Given the description of an element on the screen output the (x, y) to click on. 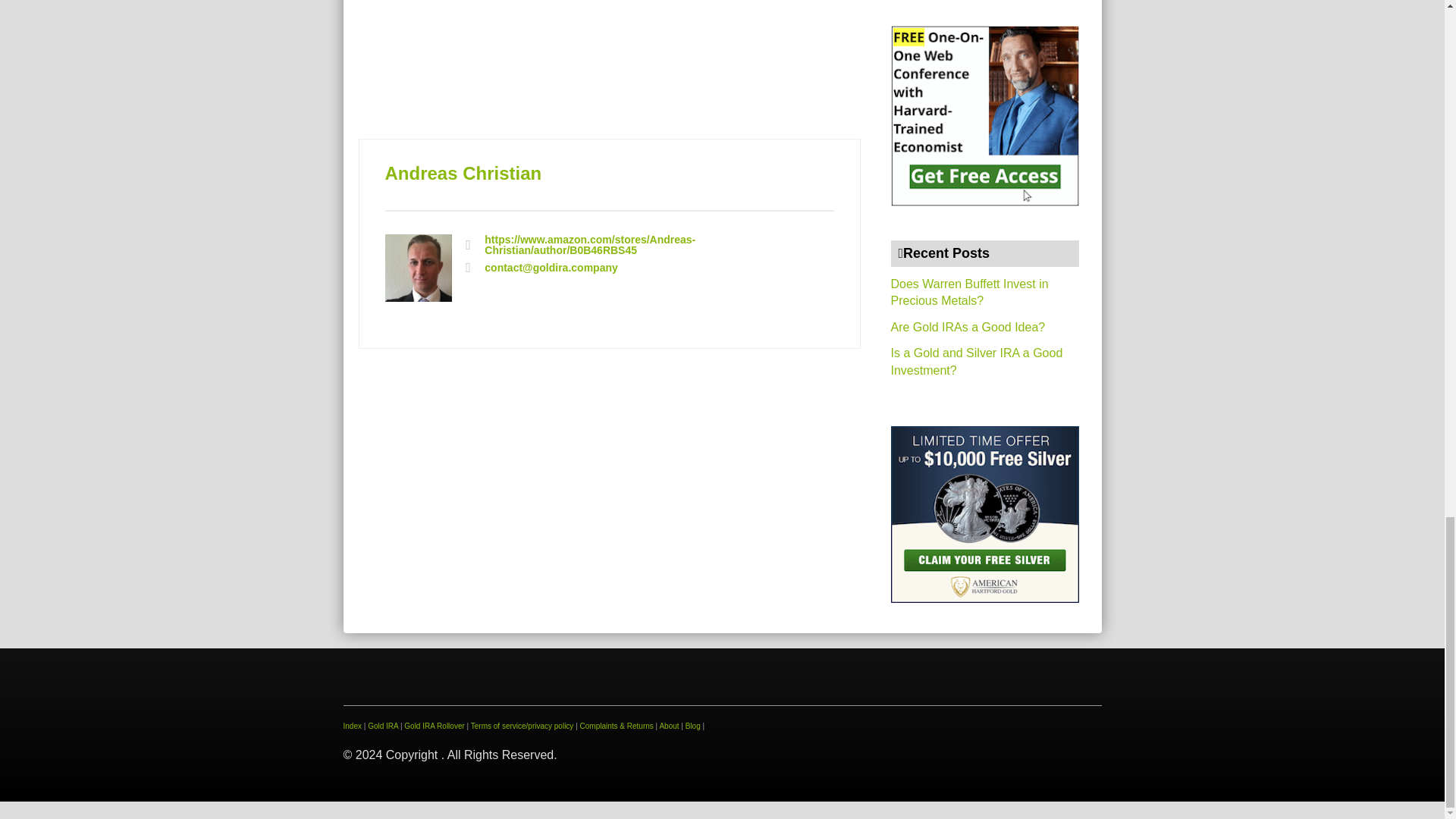
Does Warren Buffett Invest in Precious Metals? (968, 292)
Index (351, 725)
Gold IRA (382, 725)
Andreas Christian (463, 172)
Are Gold IRAs a Good Idea? (967, 327)
Blog (692, 725)
Is a Gold and Silver IRA a Good Investment? (975, 360)
Gold IRA Rollover (434, 725)
About (668, 725)
